Given the description of an element on the screen output the (x, y) to click on. 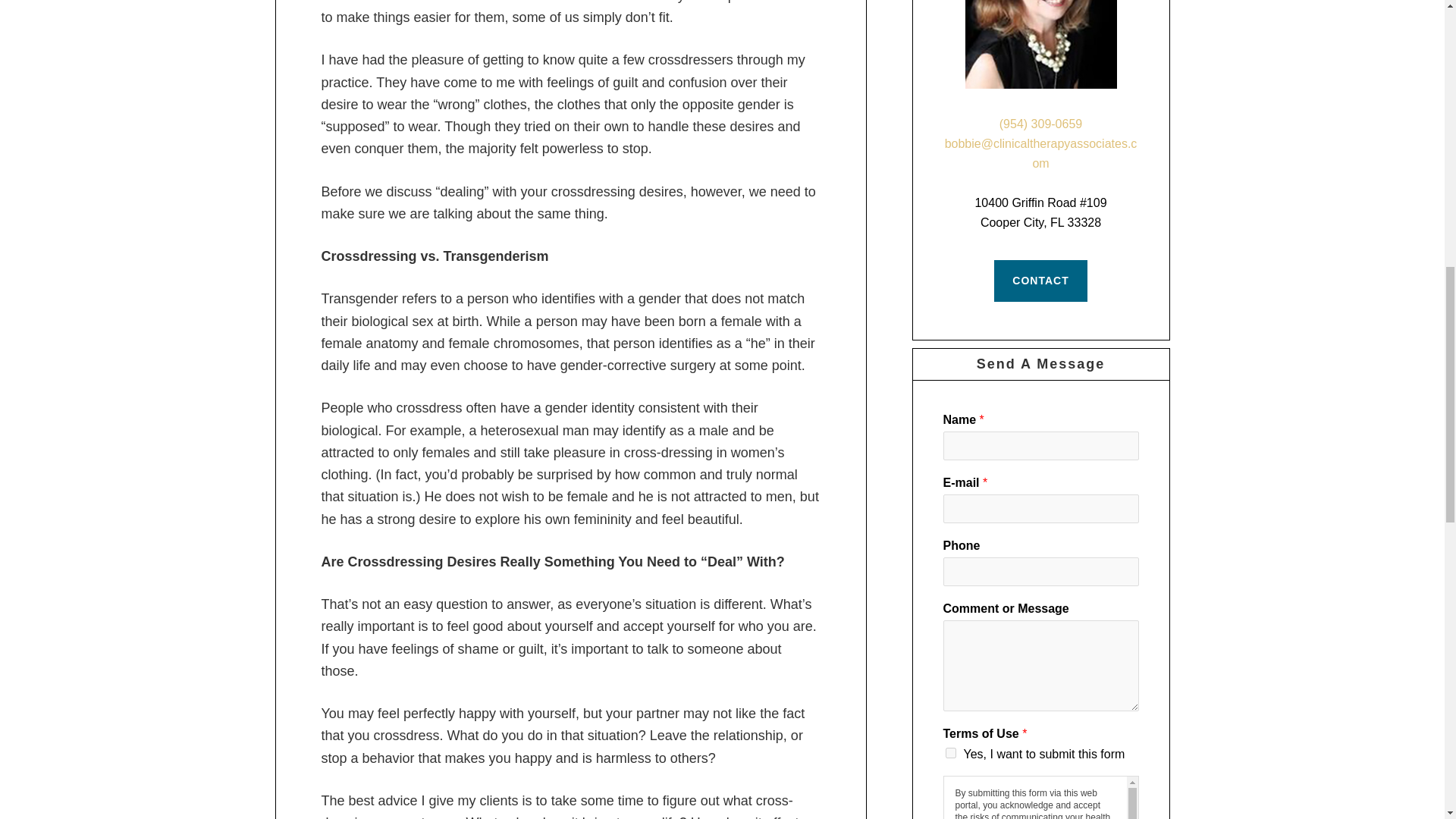
Yes, I want to submit this form (949, 752)
CONTACT (1040, 281)
